Given the description of an element on the screen output the (x, y) to click on. 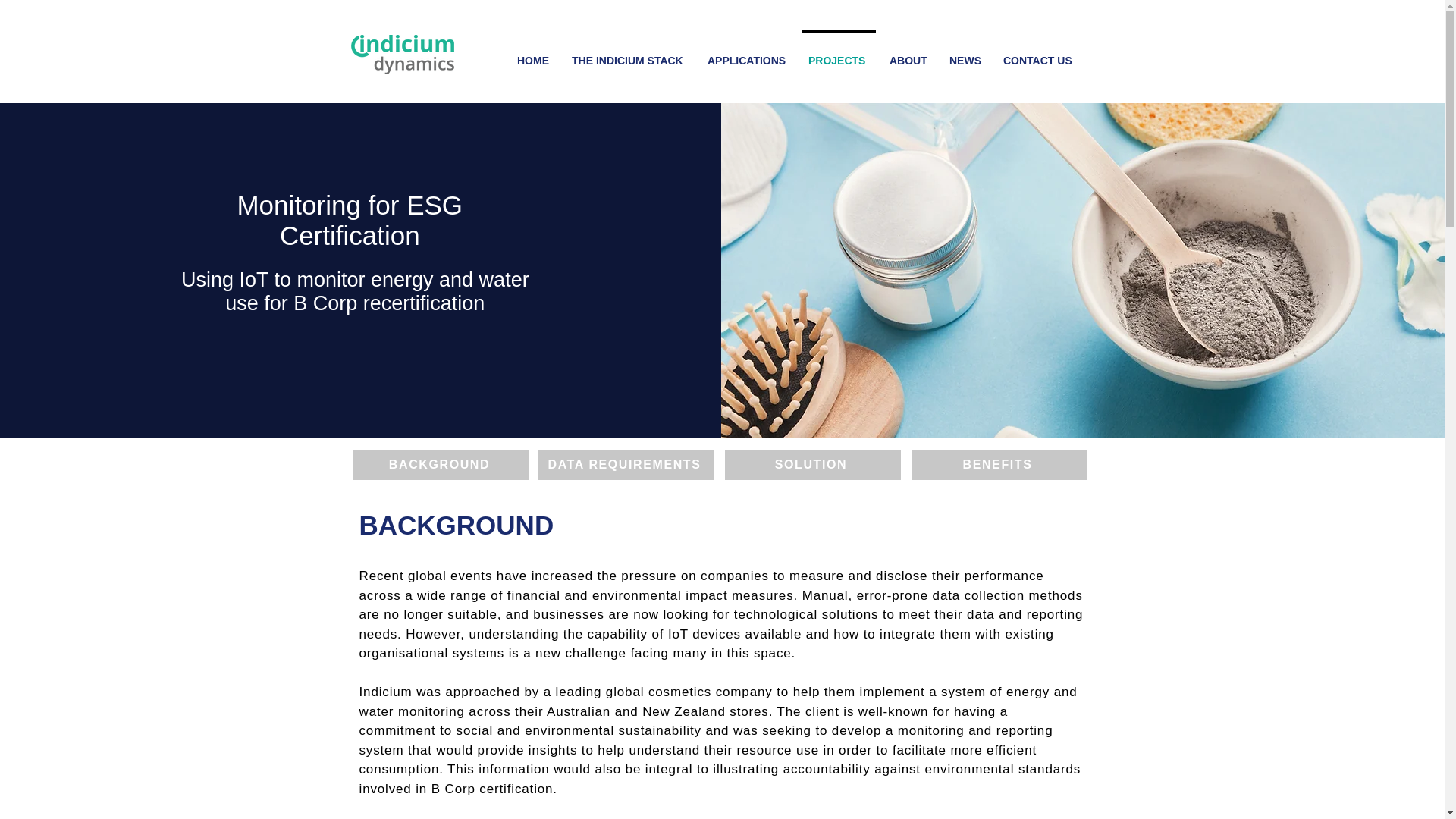
SOLUTION (813, 464)
BACKGROUND (441, 464)
CONTACT US (1039, 53)
ABOUT (909, 53)
THE INDICIUM STACK (629, 53)
DATA REQUIREMENTS (626, 464)
PROJECTS (838, 53)
NEWS (965, 53)
HOME (534, 53)
BENEFITS (999, 464)
